Given the description of an element on the screen output the (x, y) to click on. 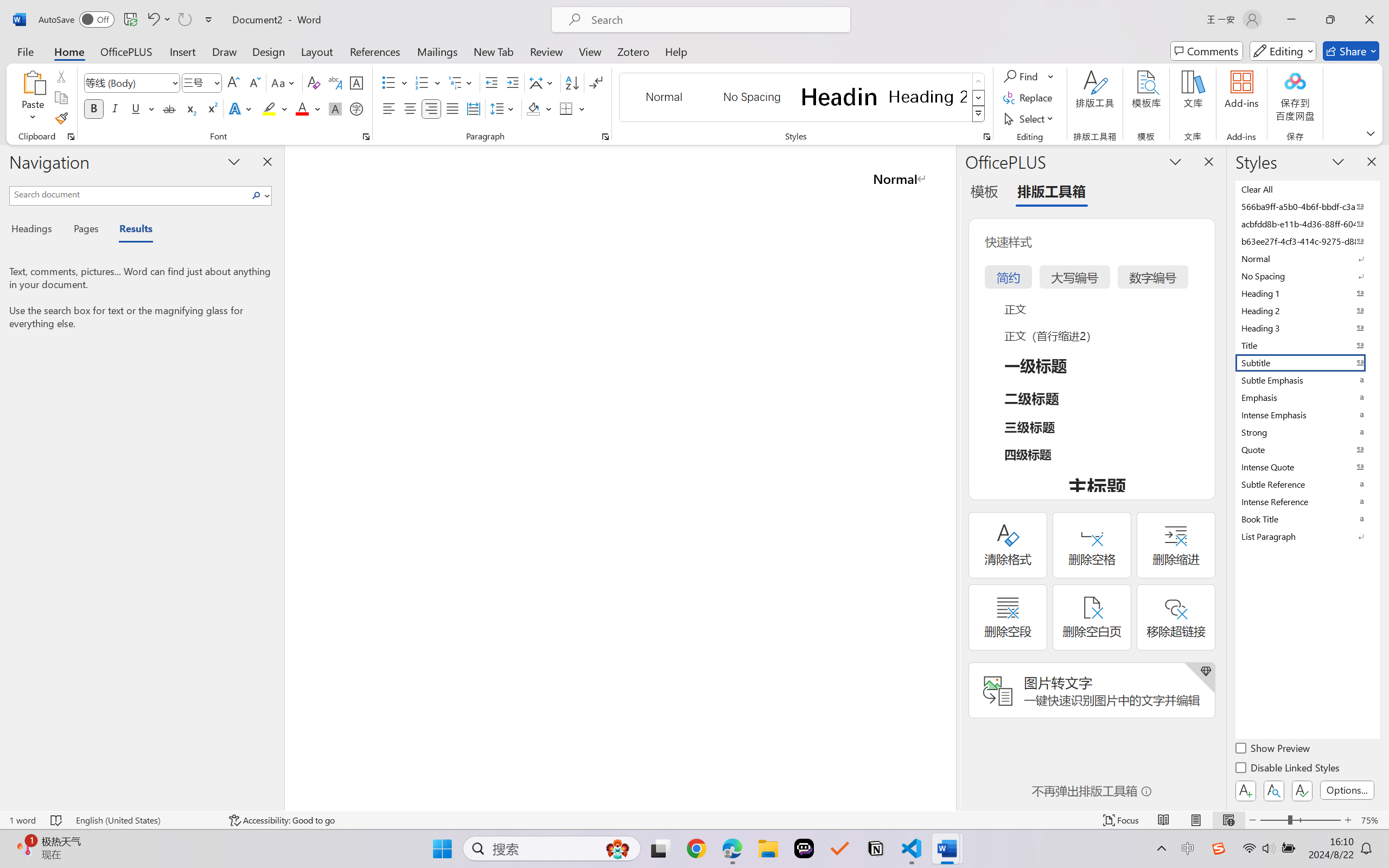
Language English (United States) (144, 819)
